Given the description of an element on the screen output the (x, y) to click on. 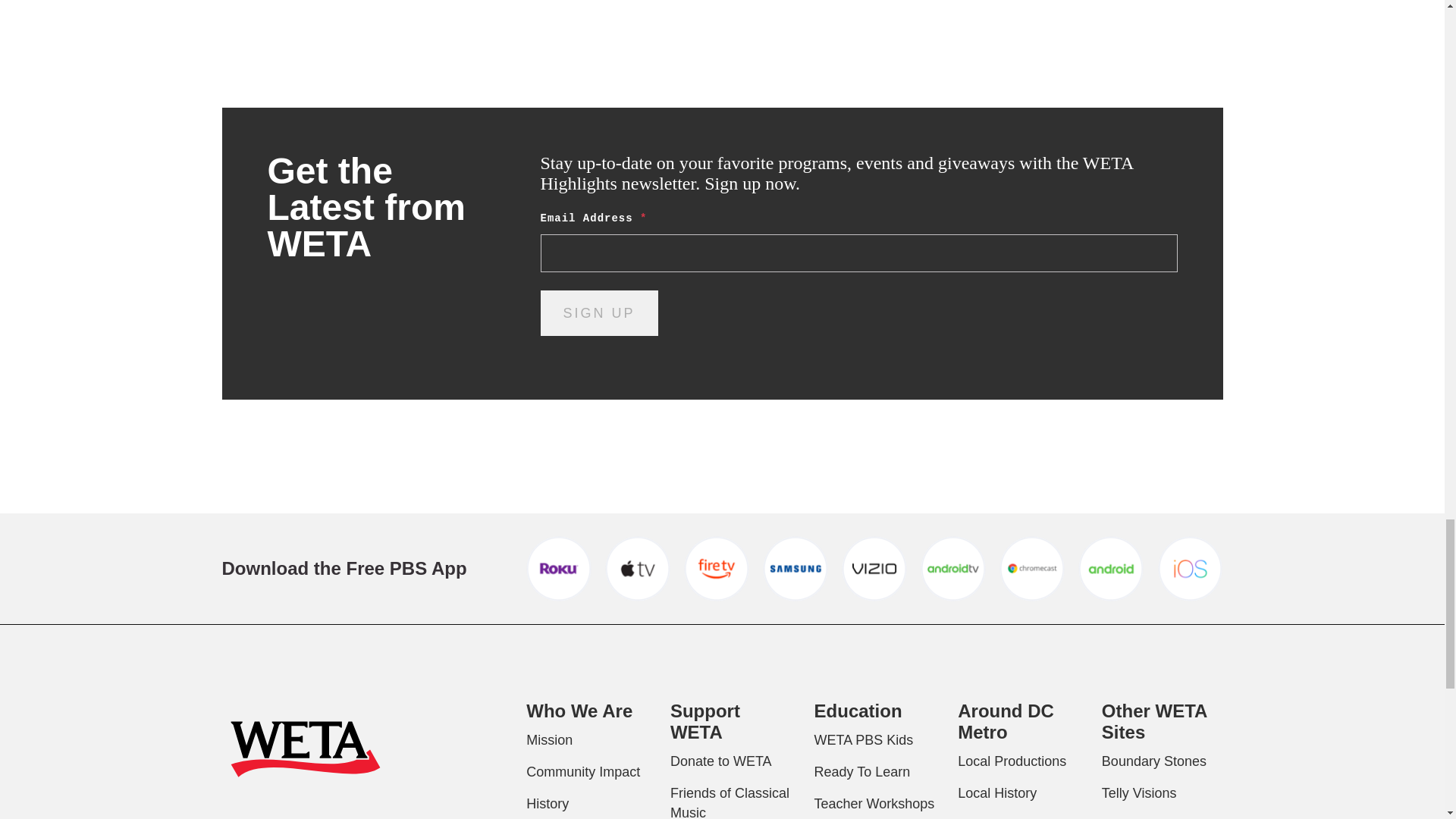
Home (304, 751)
Sign Up (599, 312)
